Given the description of an element on the screen output the (x, y) to click on. 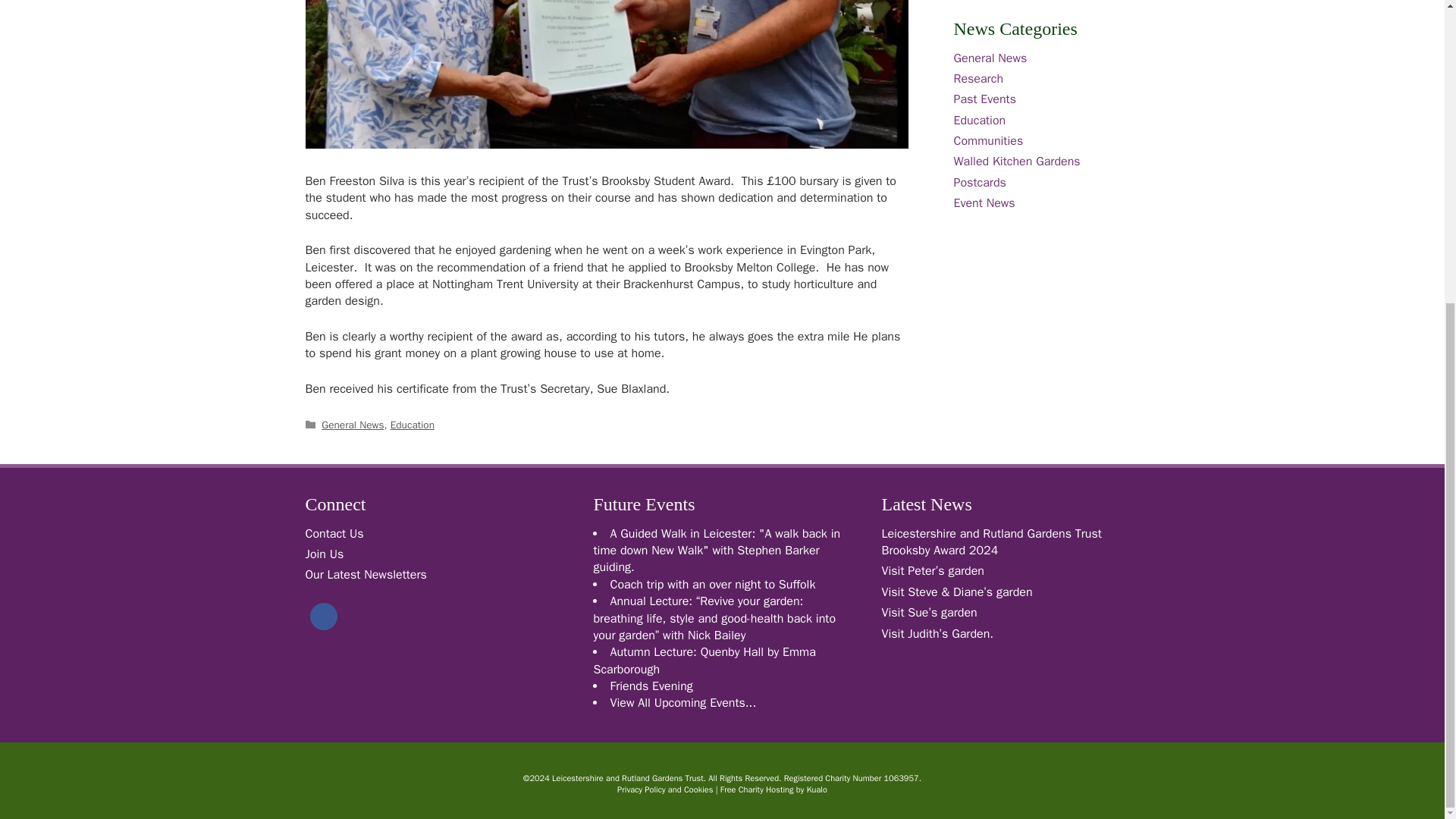
General News (352, 424)
Contact Us (333, 533)
Past Events (984, 99)
Education (411, 424)
Our Latest Newsletters (365, 574)
Research (978, 78)
General News (990, 58)
Walled Kitchen Gardens (1016, 160)
Education (979, 120)
Event News (983, 202)
